Given the description of an element on the screen output the (x, y) to click on. 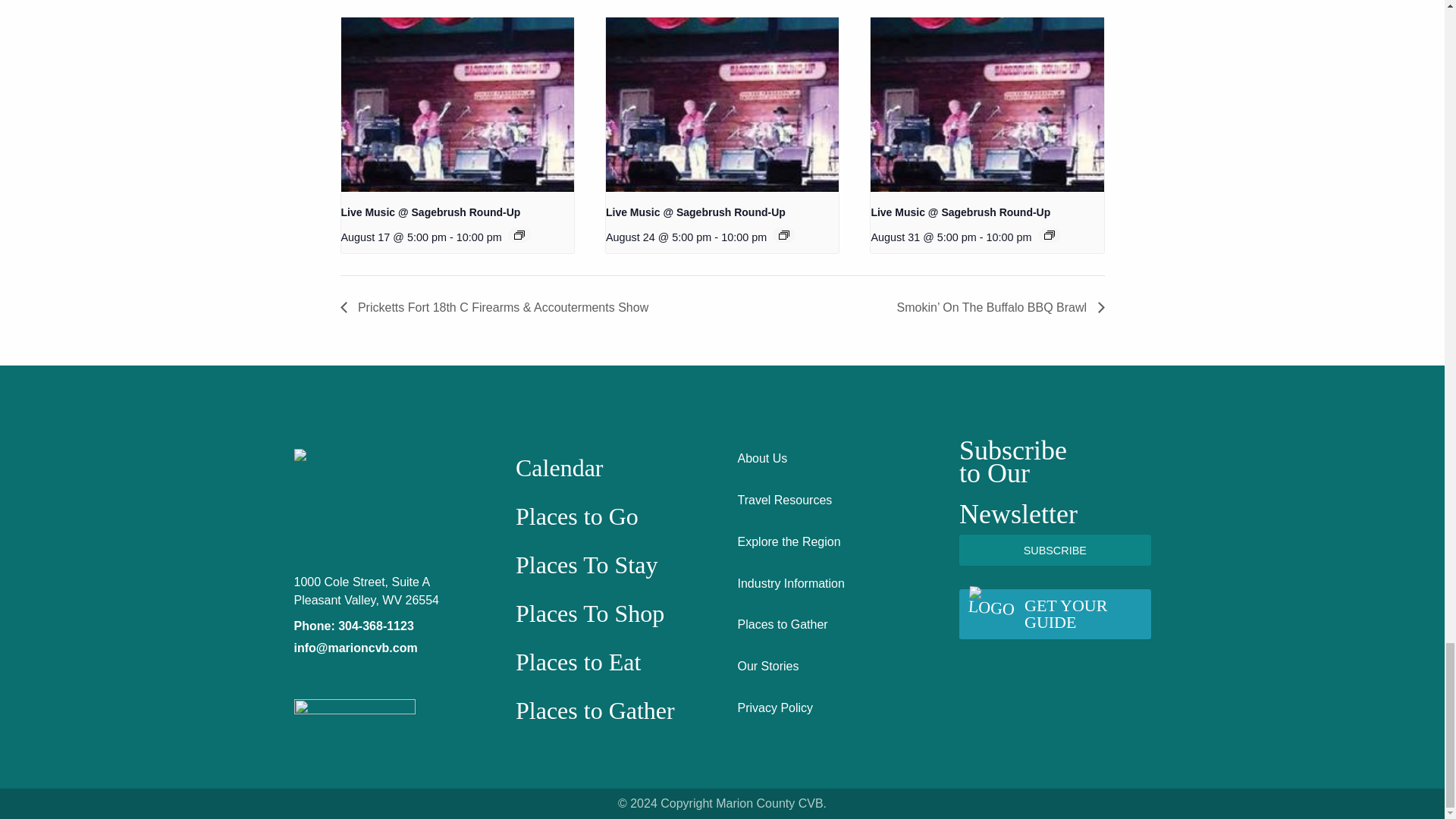
Event Series (1048, 234)
Event Series (518, 234)
Event Series (783, 234)
